Given the description of an element on the screen output the (x, y) to click on. 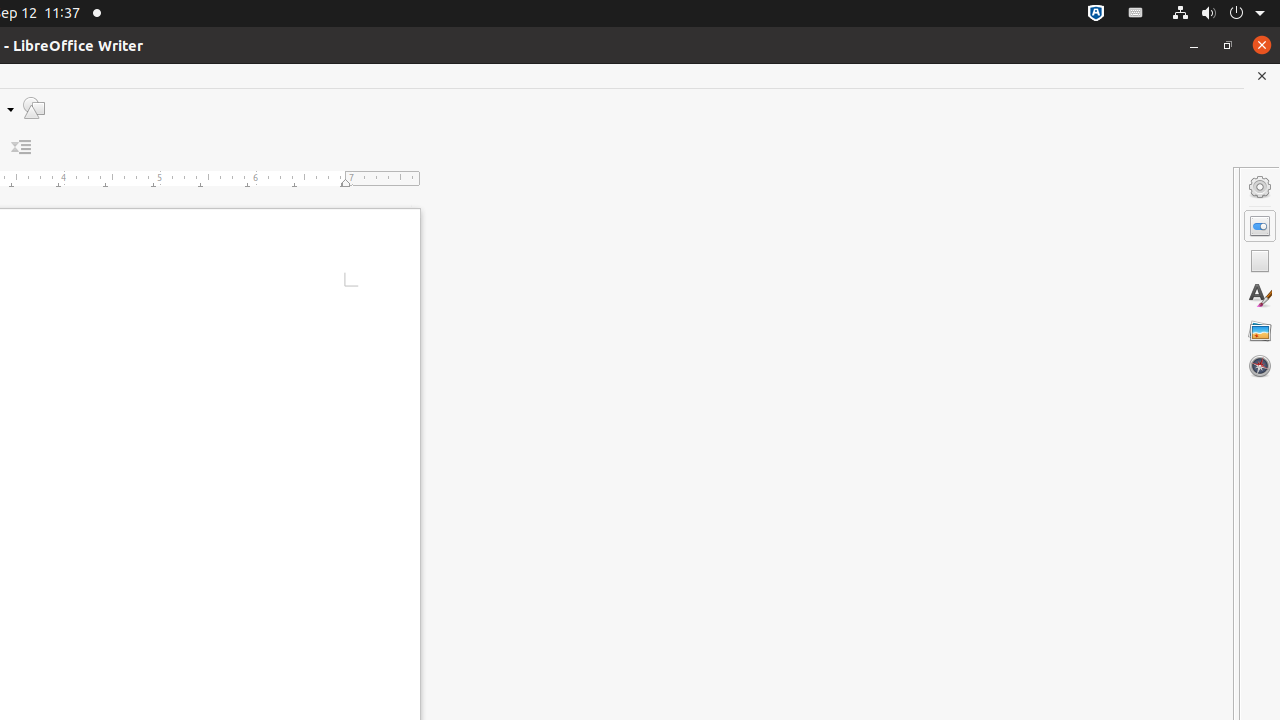
Draw Functions Element type: push-button (33, 108)
Navigator Element type: radio-button (1260, 366)
:1.72/StatusNotifierItem Element type: menu (1096, 13)
org.kde.StatusNotifierItem-14077-1 Element type: menu (1136, 13)
Page Element type: radio-button (1260, 261)
